Given the description of an element on the screen output the (x, y) to click on. 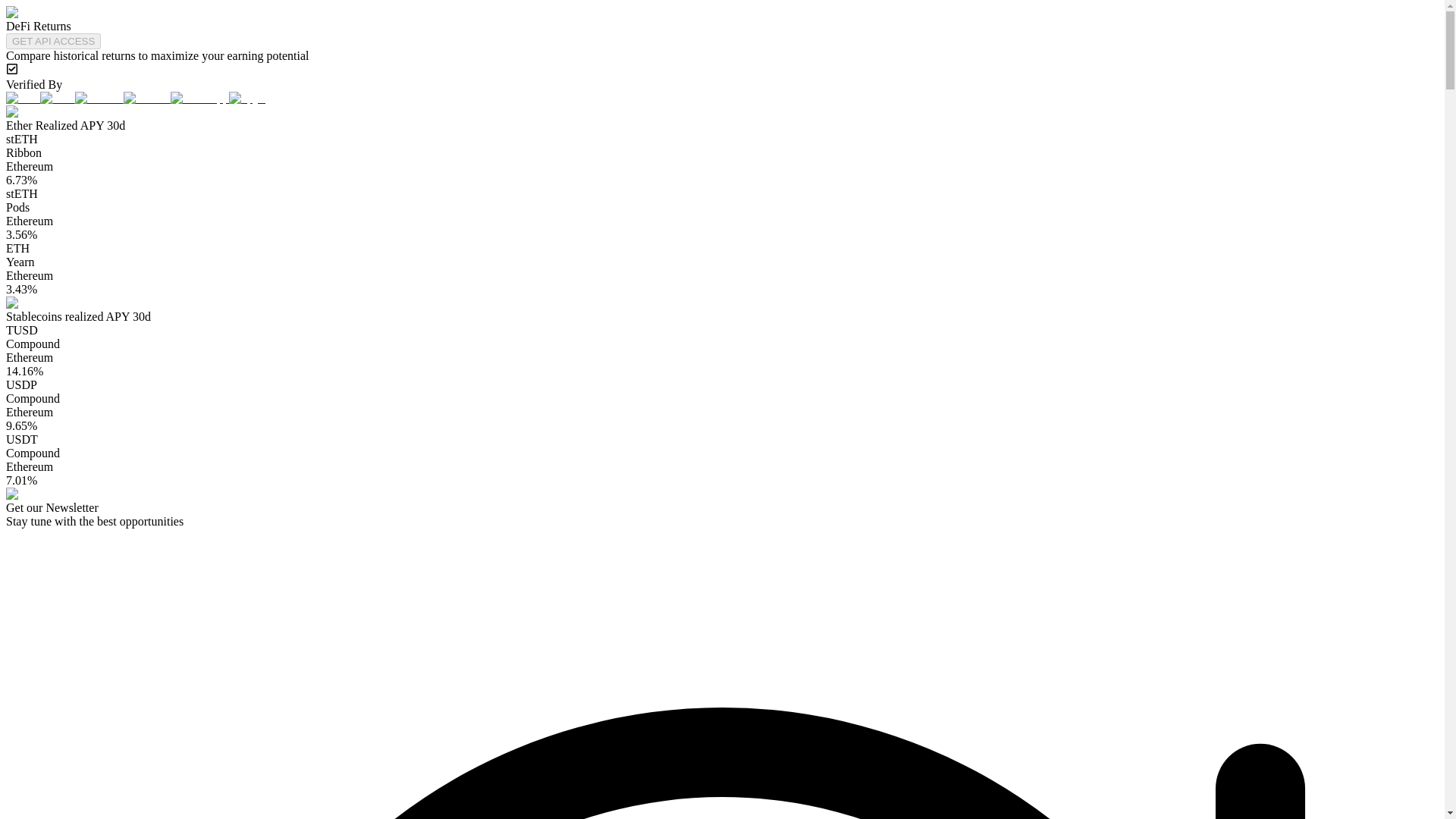
GET API ACCESS (52, 41)
